Given the description of an element on the screen output the (x, y) to click on. 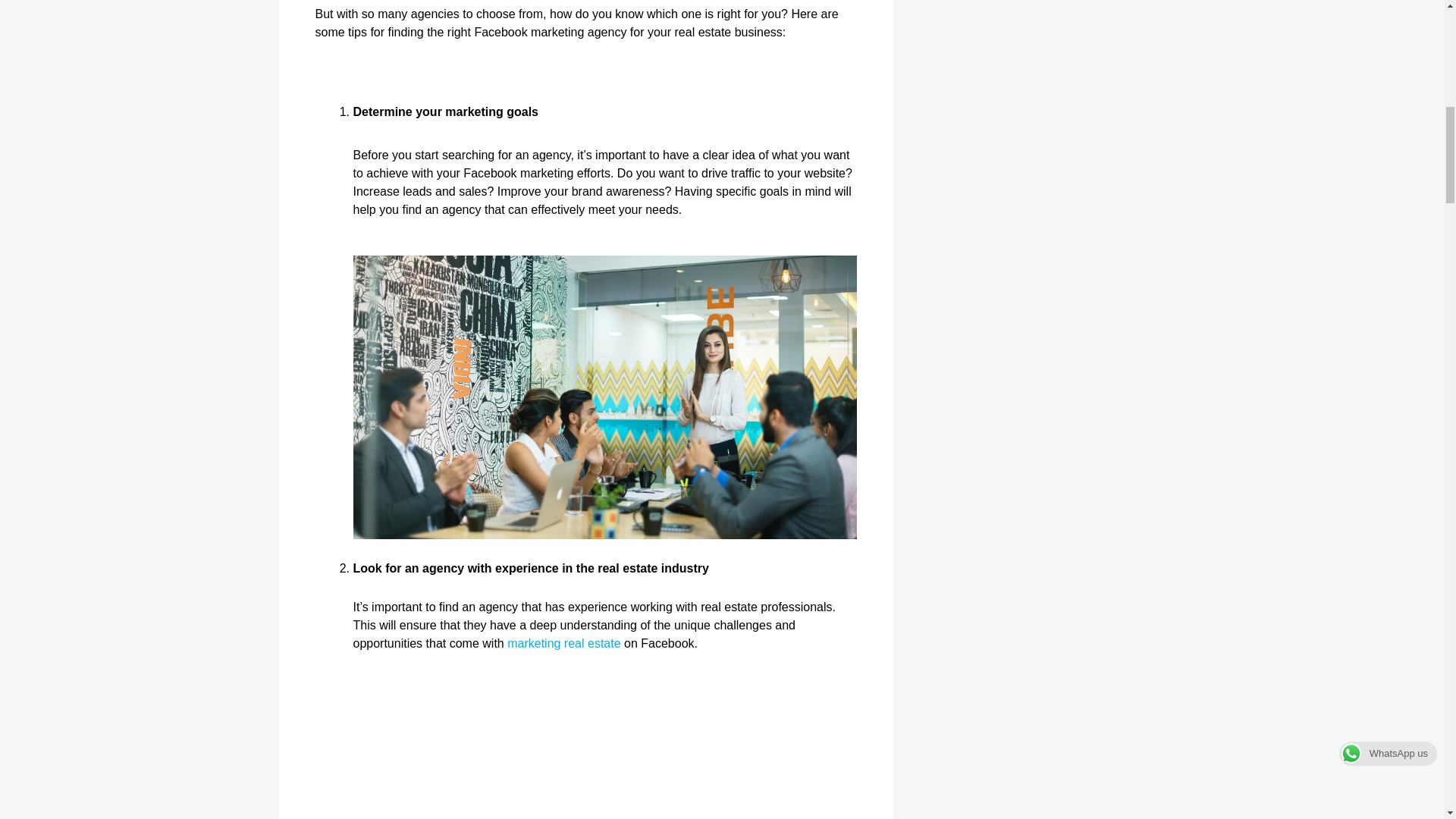
marketing real estate (563, 643)
